Given the description of an element on the screen output the (x, y) to click on. 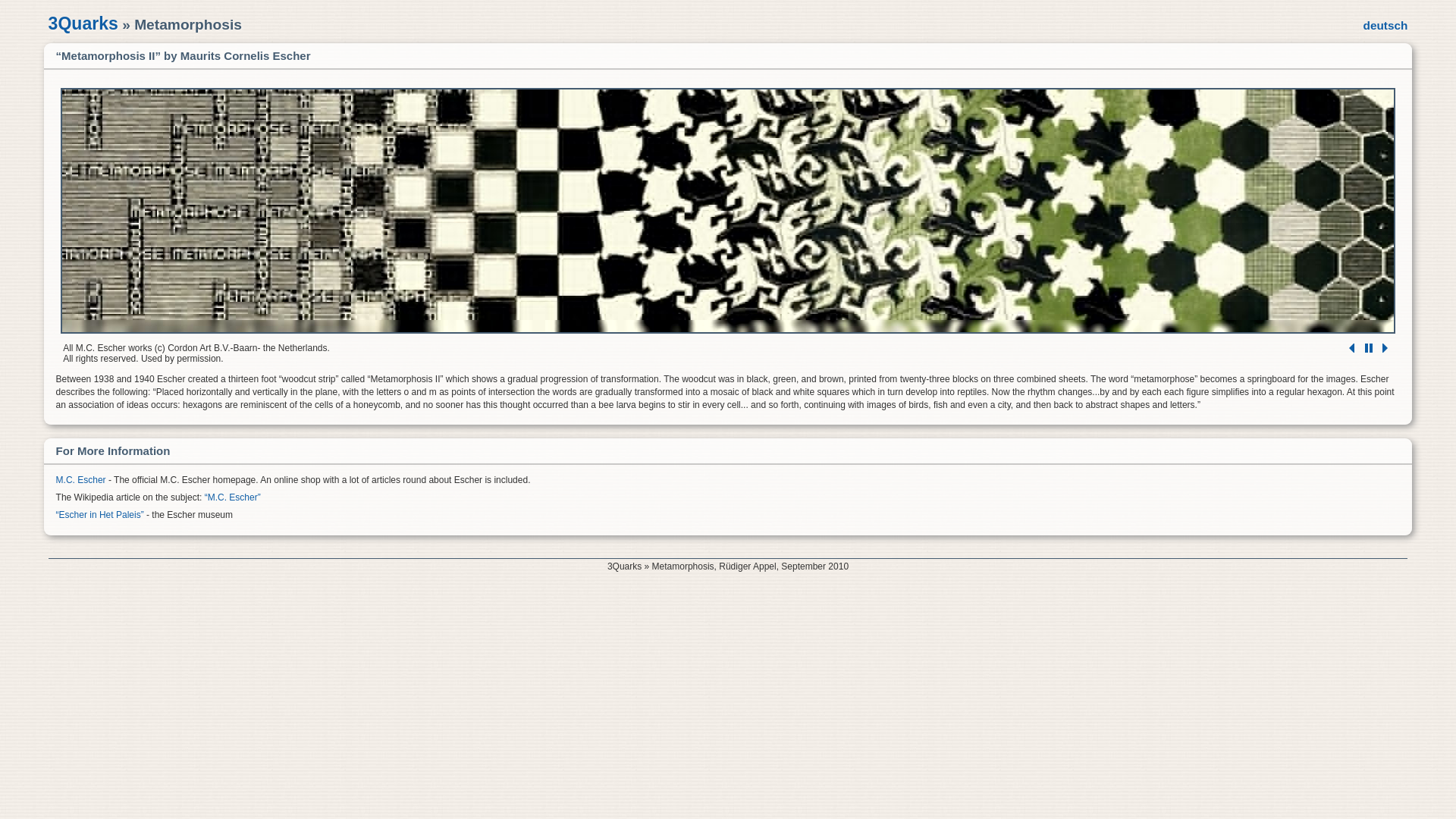
deutsch Element type: text (1385, 24)
M.C. Escher Element type: text (81, 479)
3Quarks Element type: text (83, 23)
